Given the description of an element on the screen output the (x, y) to click on. 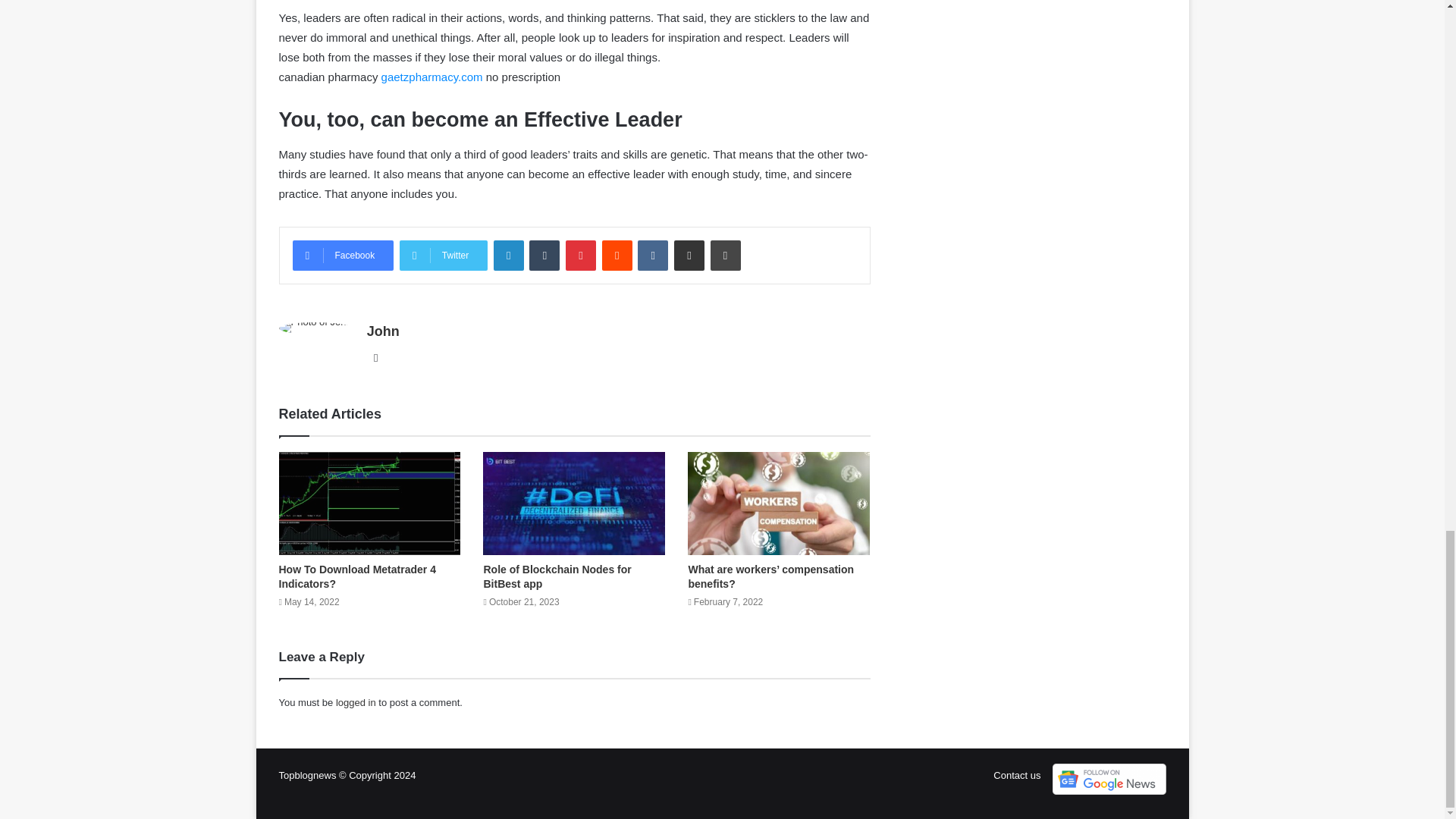
Reddit (616, 255)
Pinterest (580, 255)
VKontakte (652, 255)
Reddit (616, 255)
Tumblr (544, 255)
Print (725, 255)
VKontakte (652, 255)
Facebook (343, 255)
Twitter (442, 255)
Website (375, 357)
John (382, 331)
LinkedIn (508, 255)
LinkedIn (508, 255)
gaetzpharmacy.com (432, 76)
Tumblr (544, 255)
